Given the description of an element on the screen output the (x, y) to click on. 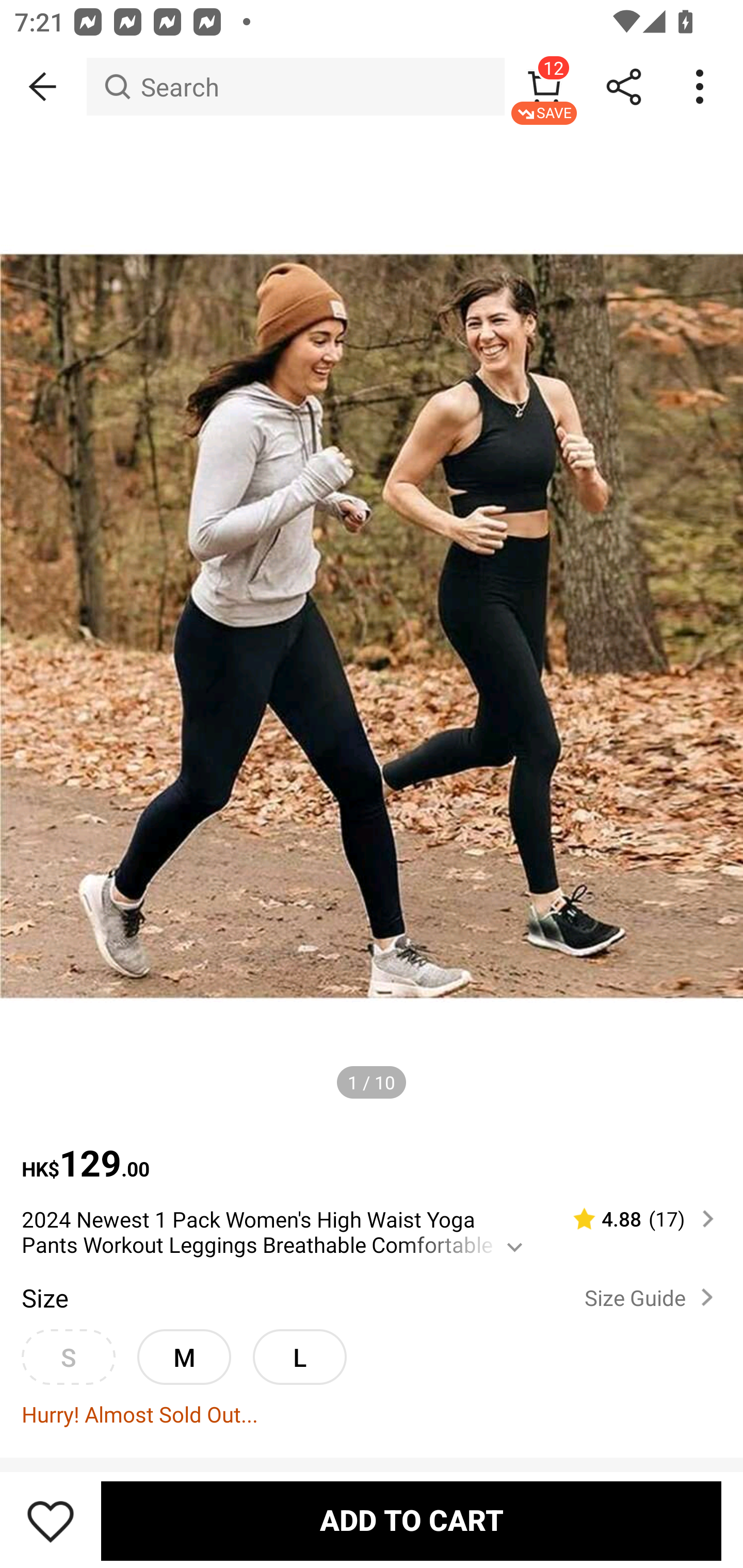
BACK (43, 86)
12 SAVE (543, 87)
Search (295, 87)
1 / 10 (371, 1082)
HK$129.00 (371, 1152)
4.88 (17) (635, 1219)
Size (44, 1297)
Size Guide (652, 1297)
S (68, 1356)
M Munselected option (184, 1356)
L Lunselected option (299, 1356)
Hurry! Almost Sold Out... (371, 1413)
ADD TO CART (411, 1520)
Save (50, 1520)
